Given the description of an element on the screen output the (x, y) to click on. 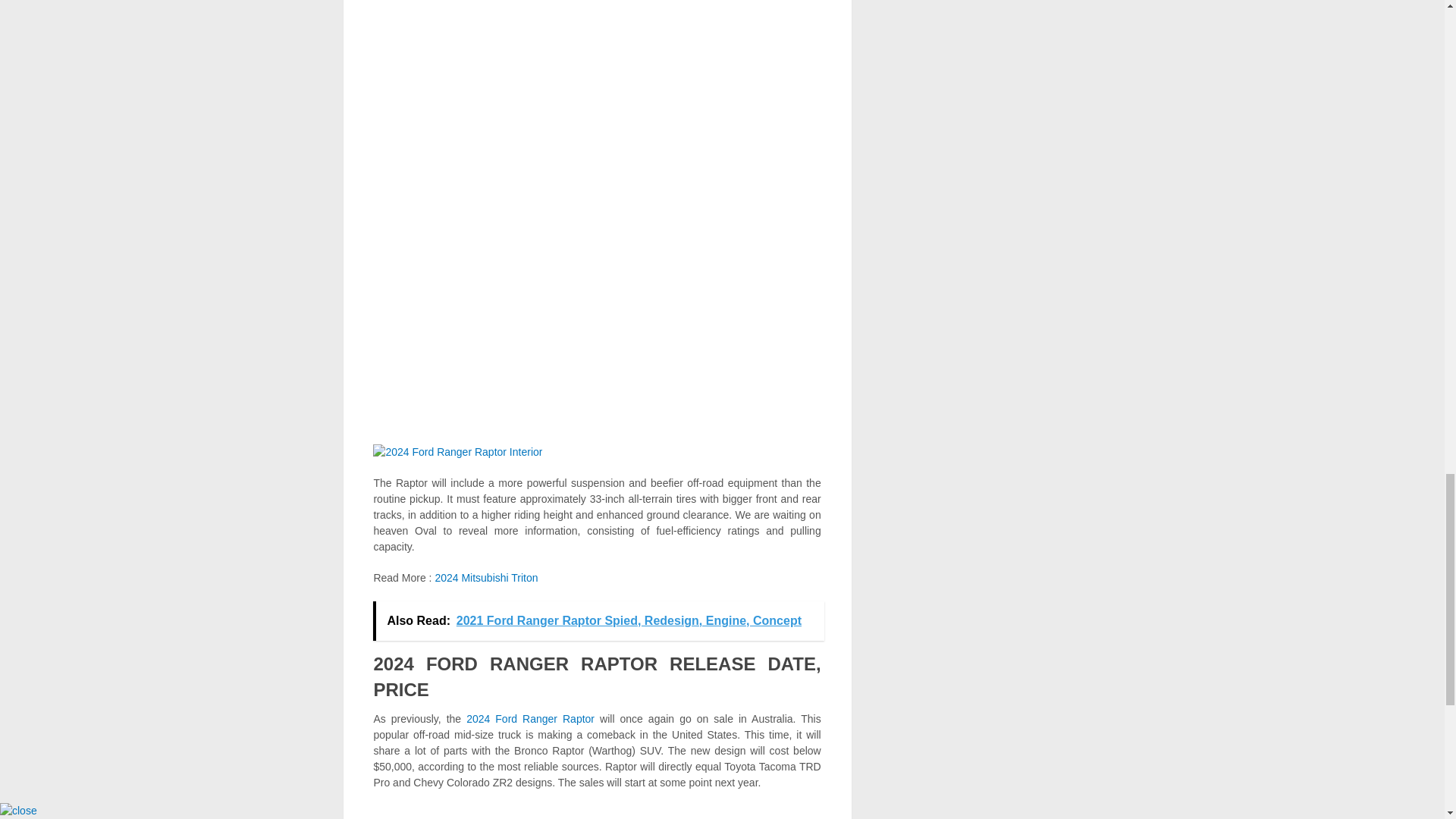
2024 Ford Ranger Raptor Interior (456, 451)
2024 Mitsubishi Triton (485, 577)
2024 Ford Ranger Raptor (529, 718)
